Given the description of an element on the screen output the (x, y) to click on. 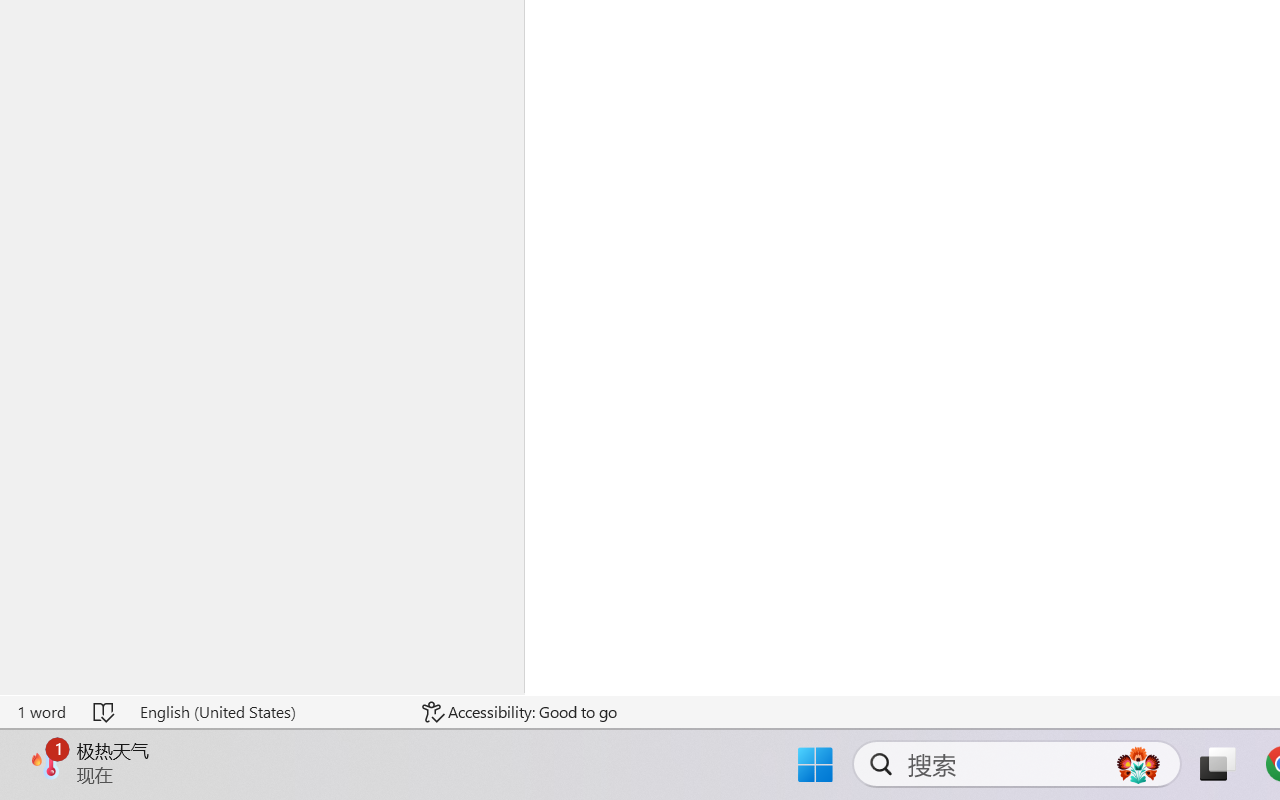
Spelling and Grammar Check No Errors (105, 712)
AutomationID: BadgeAnchorLargeTicker (46, 762)
Accessibility Checker Accessibility: Good to go (519, 712)
Language English (United States) (267, 712)
Word Count 1 word (41, 712)
